Given the description of an element on the screen output the (x, y) to click on. 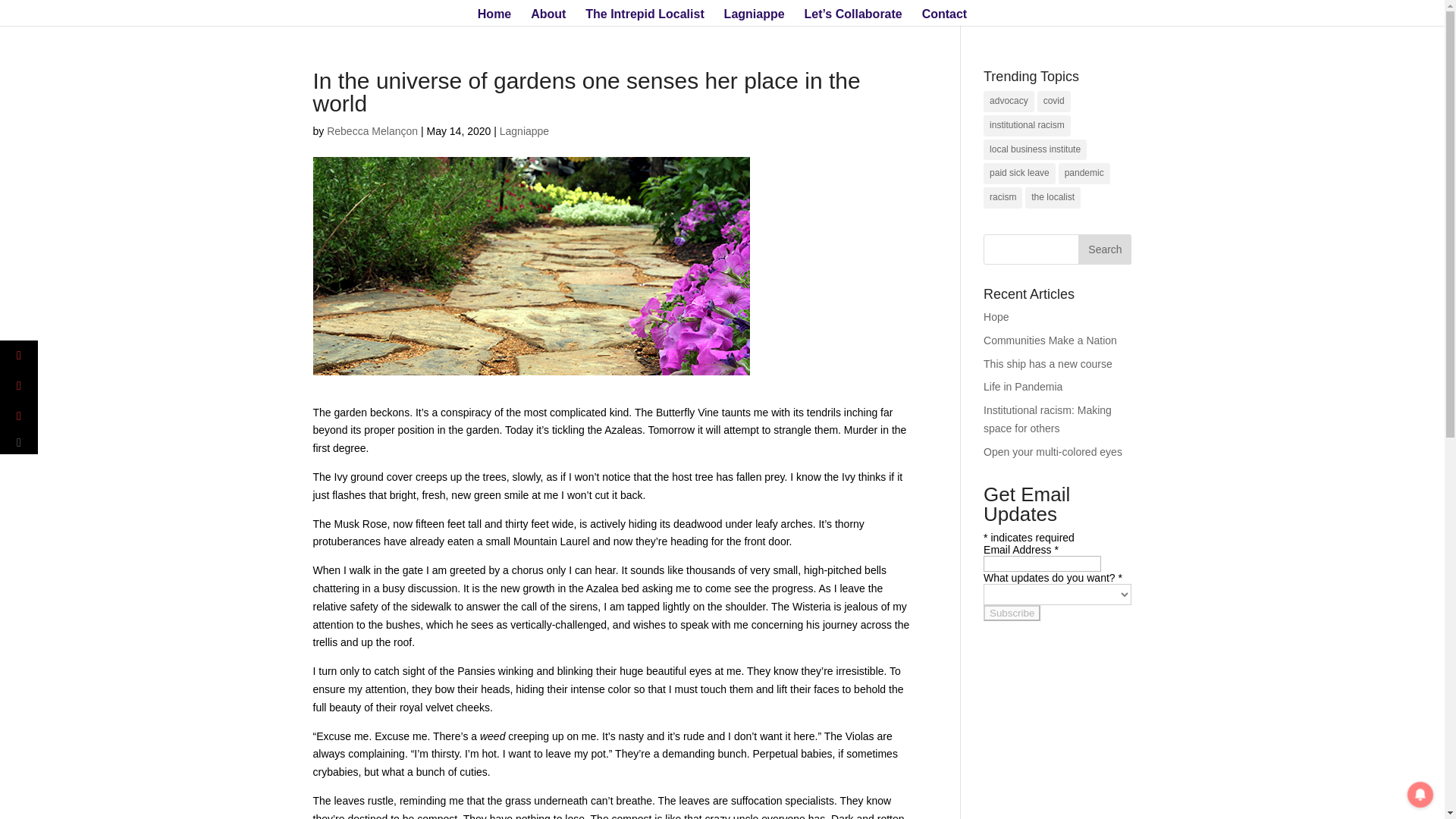
Search (1104, 249)
Lagniappe (523, 131)
Contact (944, 17)
Institutional racism: Making space for others (1048, 419)
institutional racism (1027, 125)
advocacy (1008, 101)
Life in Pandemia (1023, 386)
Lagniappe (753, 17)
Subscribe (1012, 612)
Hope (996, 316)
racism (1003, 197)
The Intrepid Localist (644, 17)
local business institute (1035, 149)
the localist (1052, 197)
Open your multi-colored eyes (1053, 451)
